Given the description of an element on the screen output the (x, y) to click on. 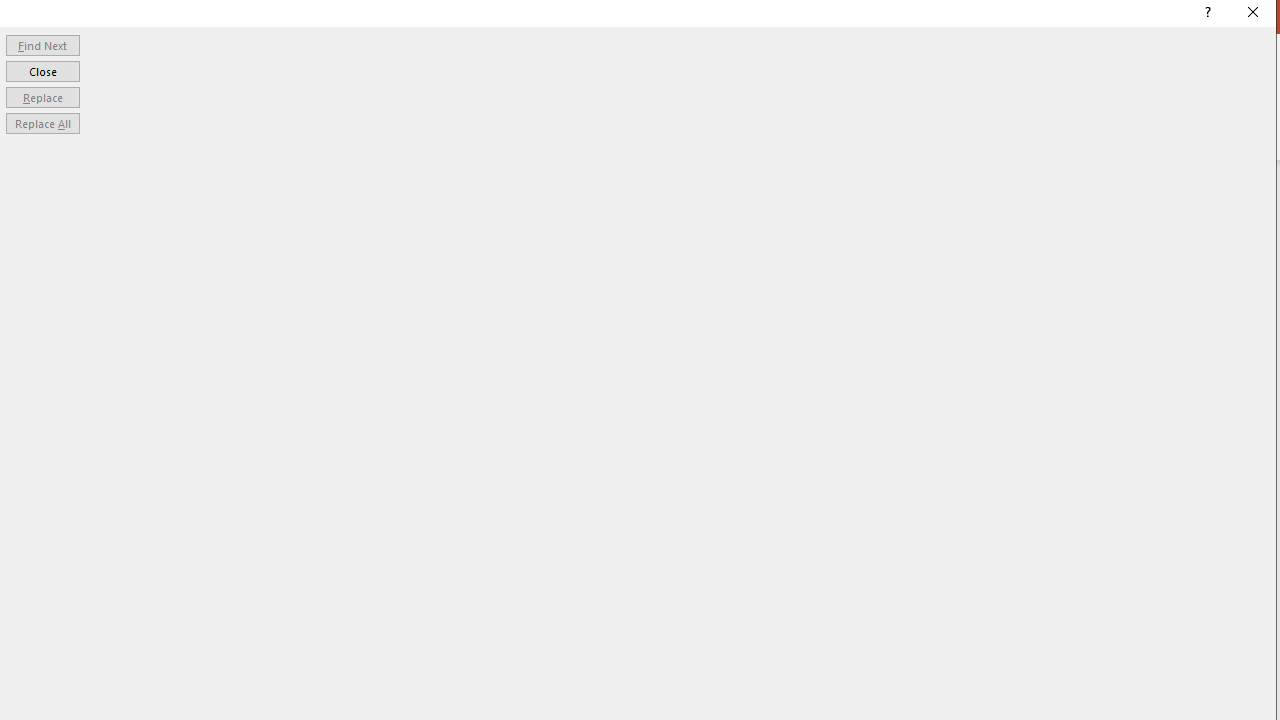
Replace (42, 96)
Replace All (42, 123)
Find Next (42, 44)
